Given the description of an element on the screen output the (x, y) to click on. 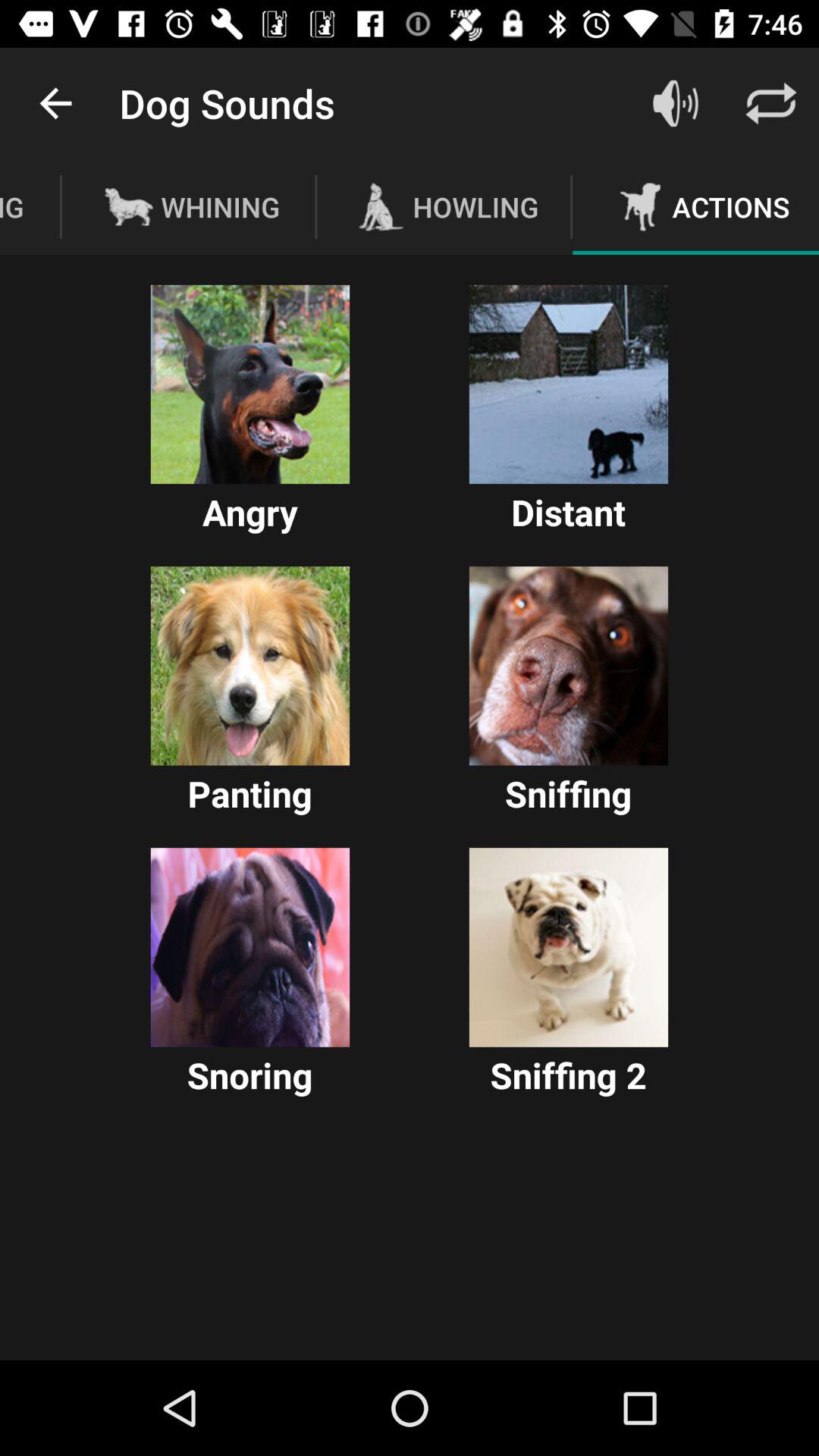
select sound (249, 947)
